Given the description of an element on the screen output the (x, y) to click on. 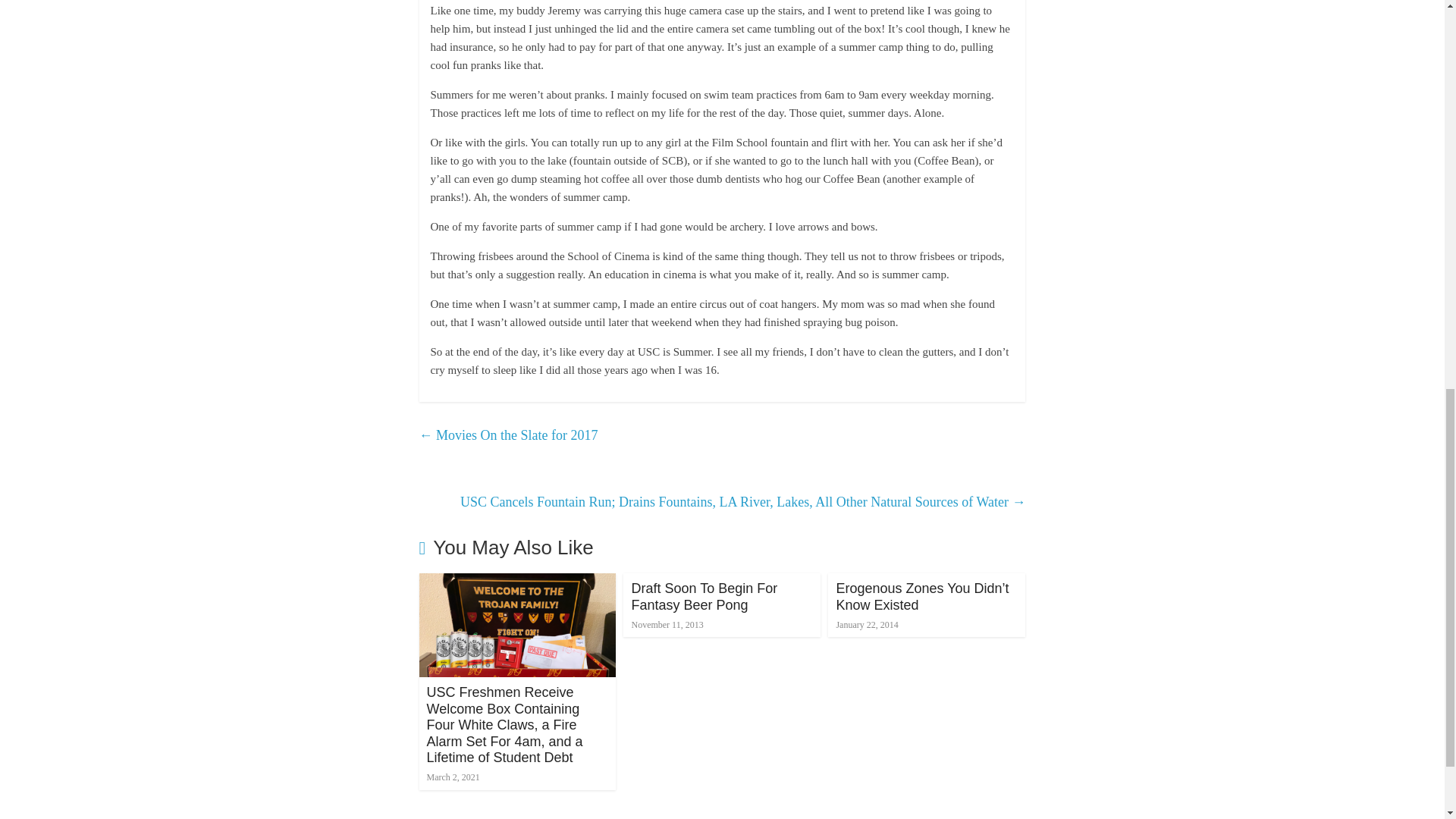
11:39 am (666, 624)
Draft Soon To Begin For Fantasy Beer Pong (703, 596)
12:00 pm (452, 777)
